Given the description of an element on the screen output the (x, y) to click on. 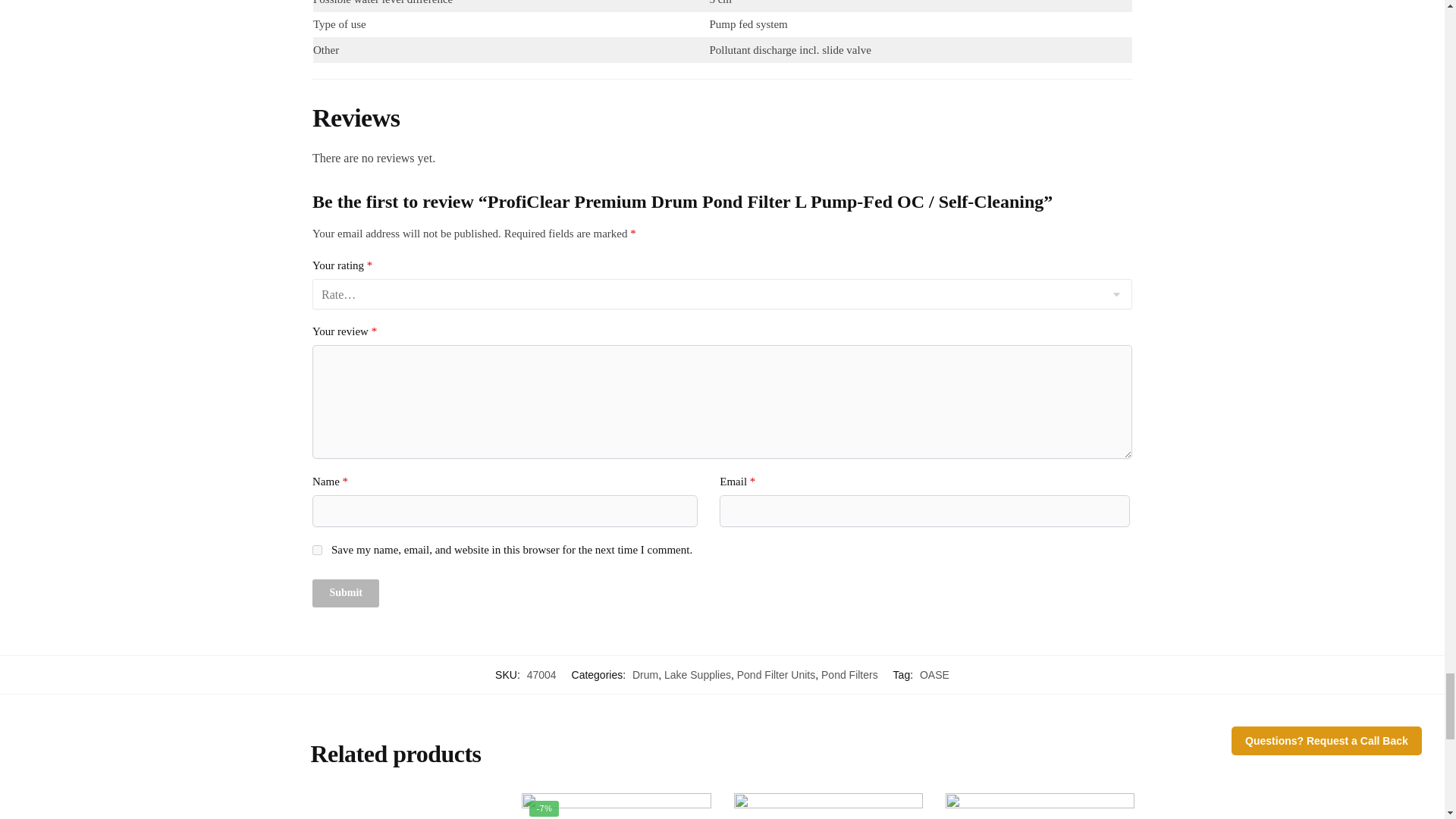
Submit (345, 593)
yes (317, 550)
